Given the description of an element on the screen output the (x, y) to click on. 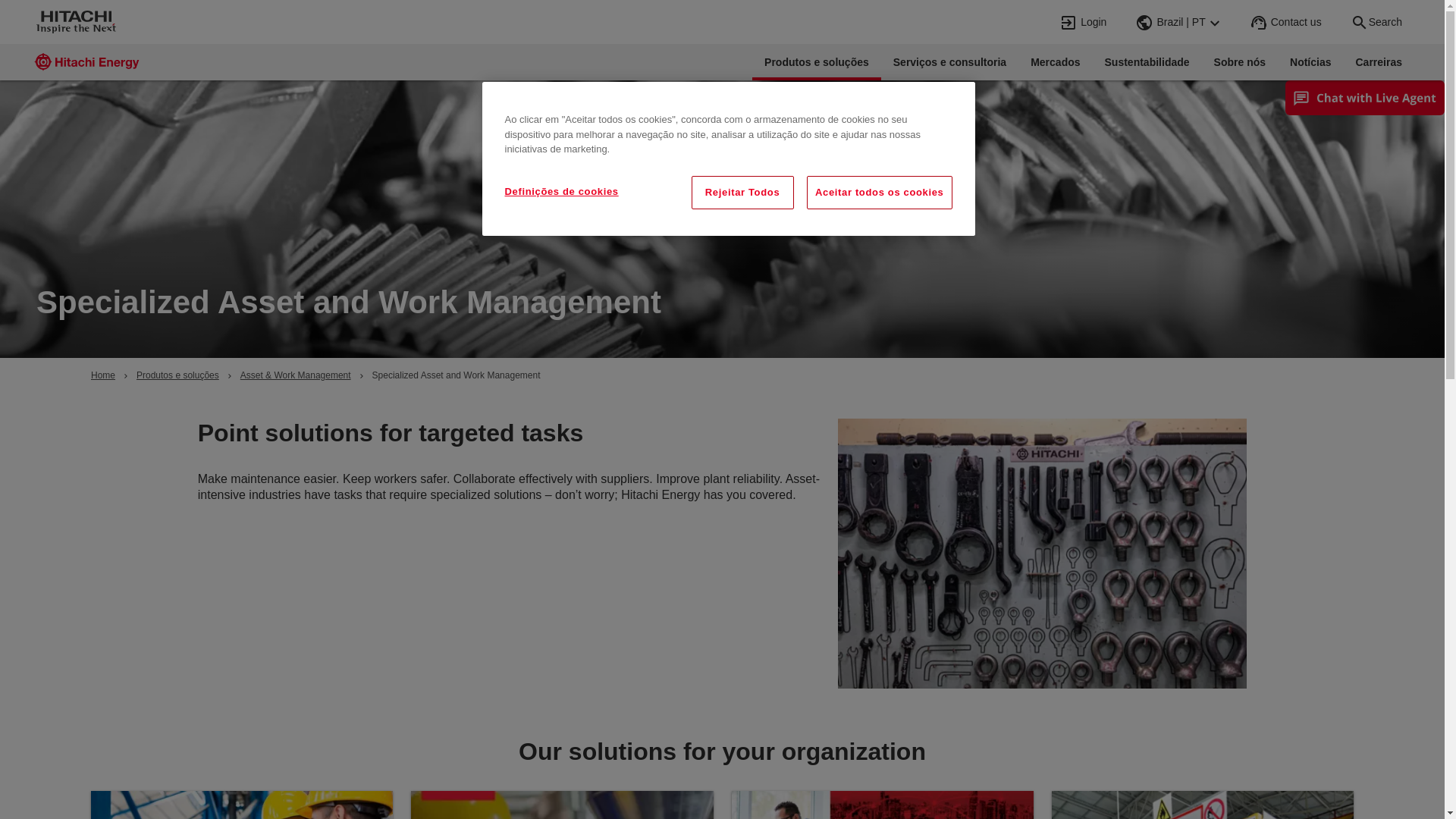
Mercados (1054, 62)
Login (1084, 21)
Contact us (1286, 21)
Search (1375, 22)
